Given the description of an element on the screen output the (x, y) to click on. 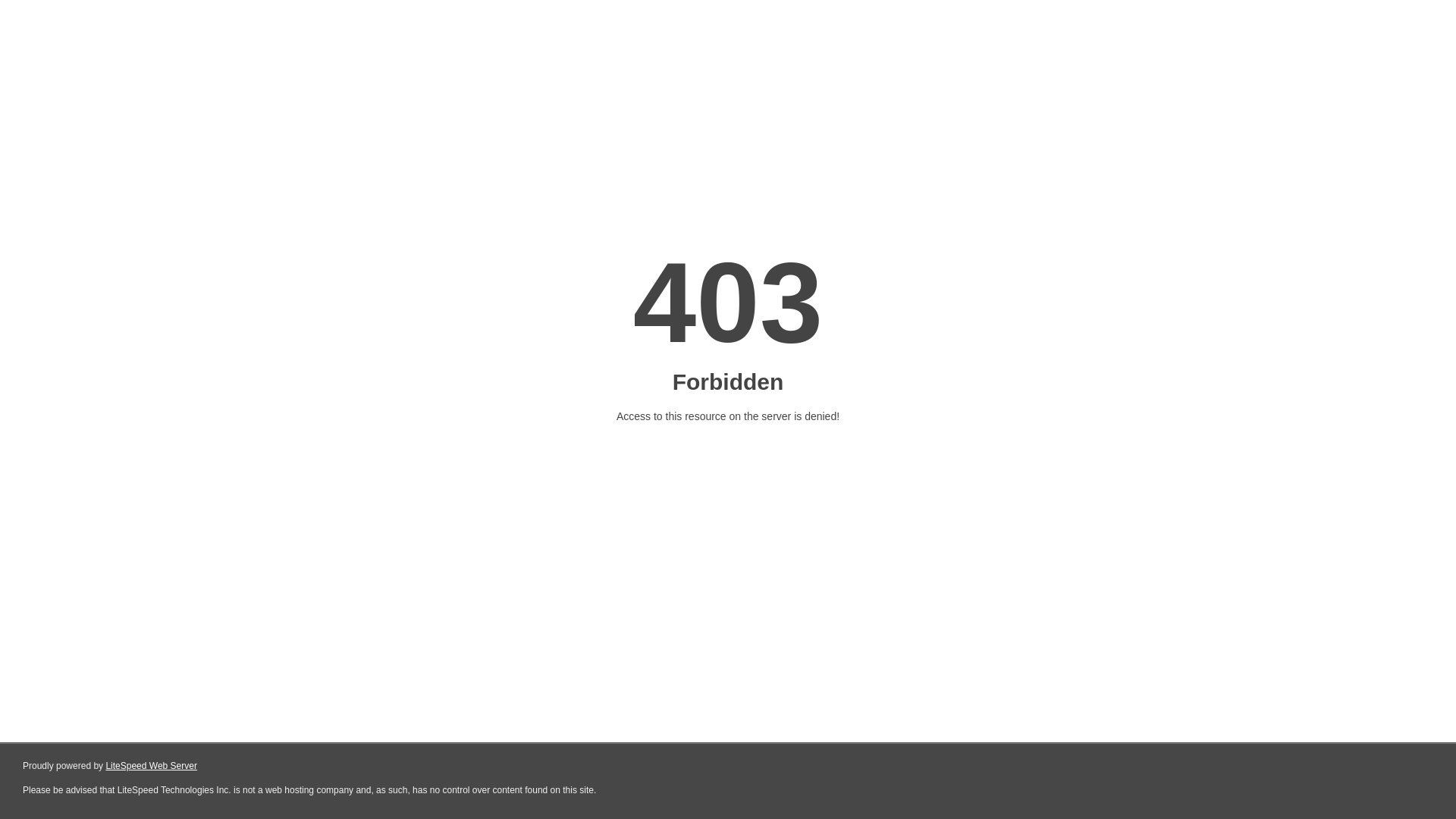
LiteSpeed Web Server Element type: text (151, 765)
